Given the description of an element on the screen output the (x, y) to click on. 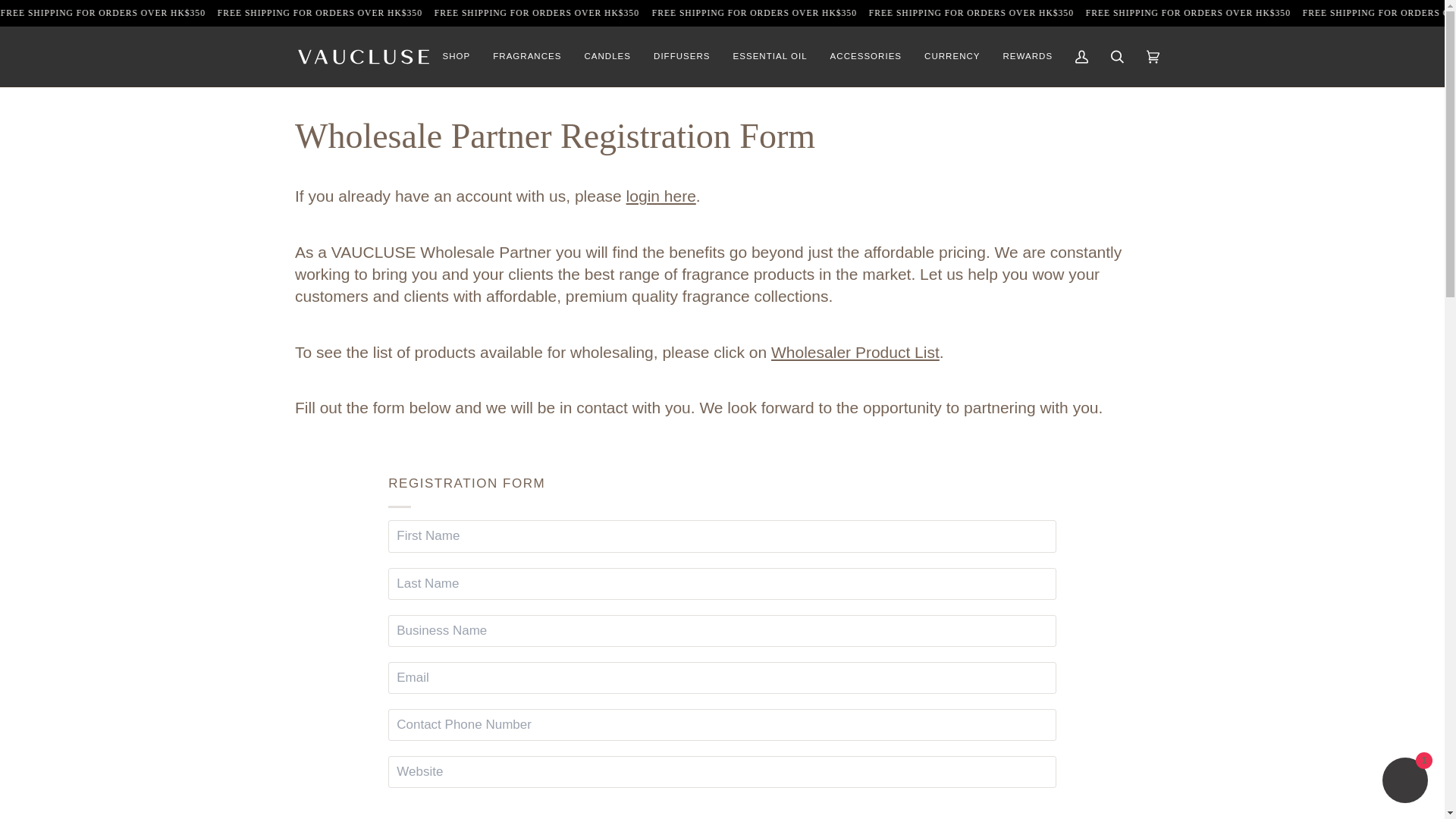
ACCESSORIES (865, 56)
Shopify online store chat (1404, 781)
REWARDS (1027, 56)
CANDLES (607, 56)
Wholesaler Product List (855, 351)
CURRENCY (951, 56)
DIFFUSERS (682, 56)
FRAGRANCES (526, 56)
ESSENTIAL OIL (770, 56)
